Given the description of an element on the screen output the (x, y) to click on. 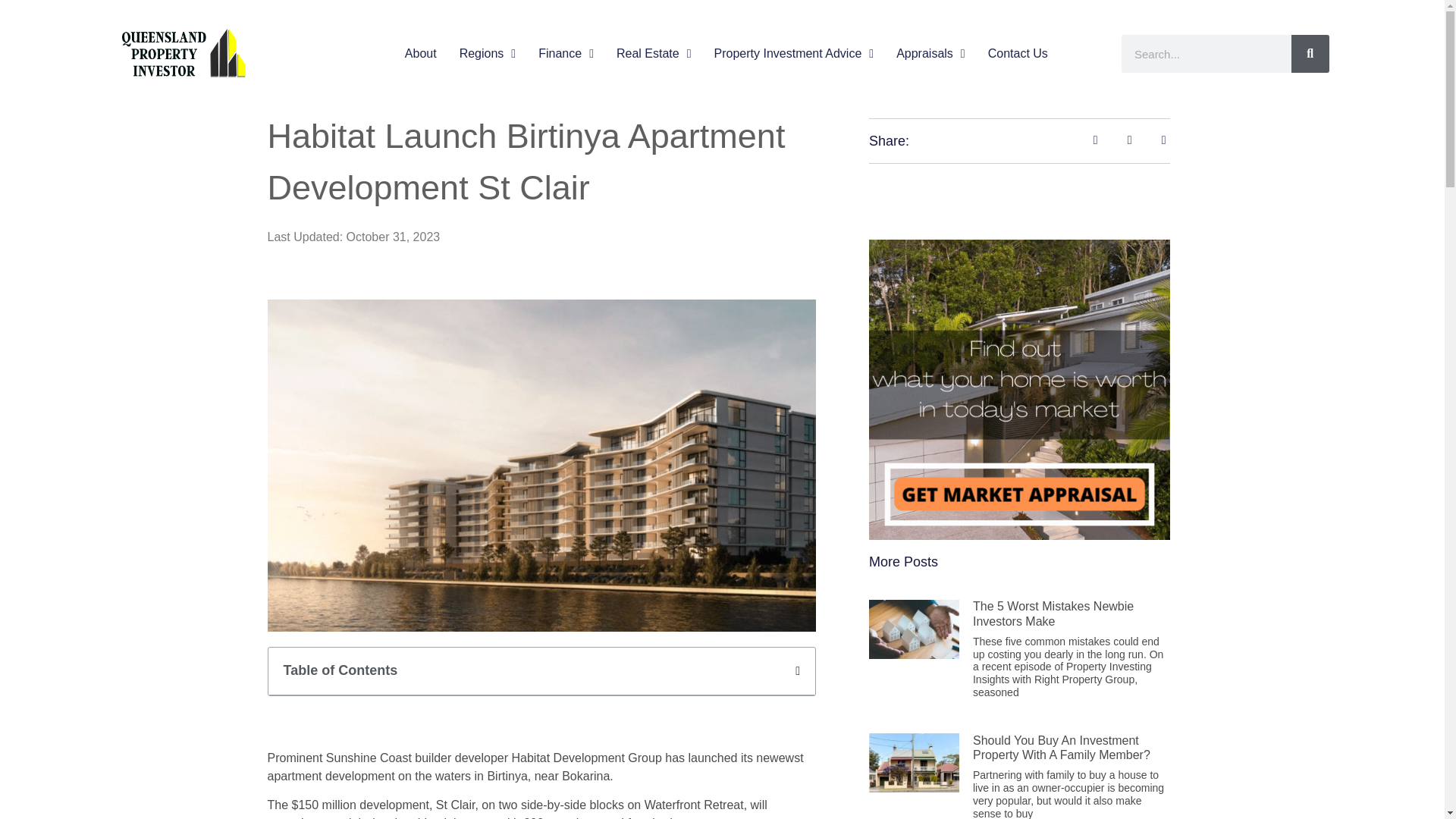
Property Investment Advice (794, 53)
Real Estate (653, 53)
Appraisals (930, 53)
Contact Us (1018, 53)
About (420, 53)
Finance (566, 53)
Regions (488, 53)
